Given the description of an element on the screen output the (x, y) to click on. 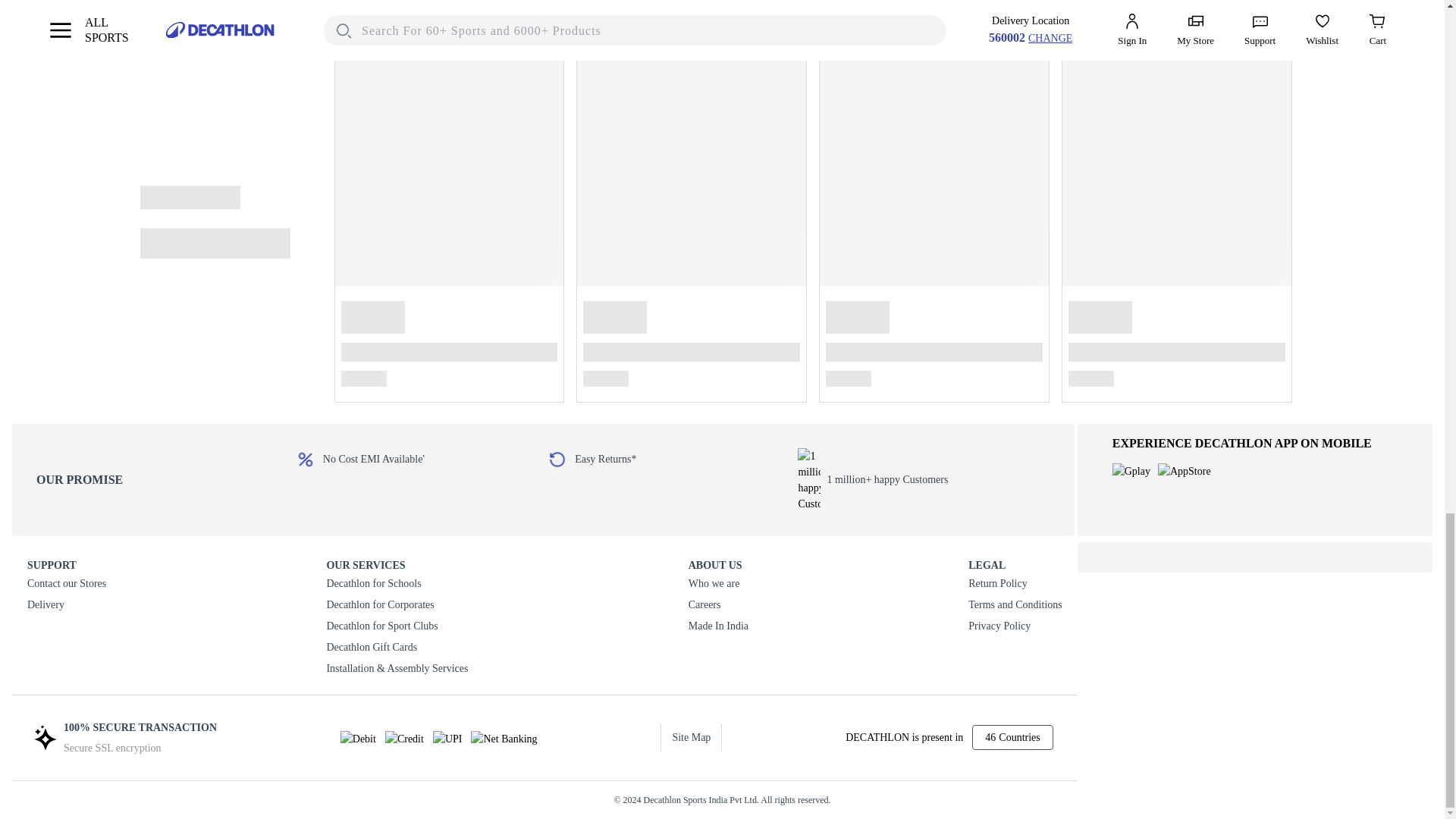
Decathlon for Corporates (396, 604)
Made In India (718, 626)
Decathlon Gift Cards (396, 647)
Decathlon for Schools (396, 583)
Privacy Policy (1014, 626)
Contact our Stores (66, 583)
Careers (718, 604)
Who we are (718, 583)
Site Map (691, 737)
Delivery (66, 604)
Return Policy (1014, 583)
Decathlon for Sport Clubs (396, 626)
Terms and Conditions (1014, 604)
No Cost EMI Available' (420, 458)
